Given the description of an element on the screen output the (x, y) to click on. 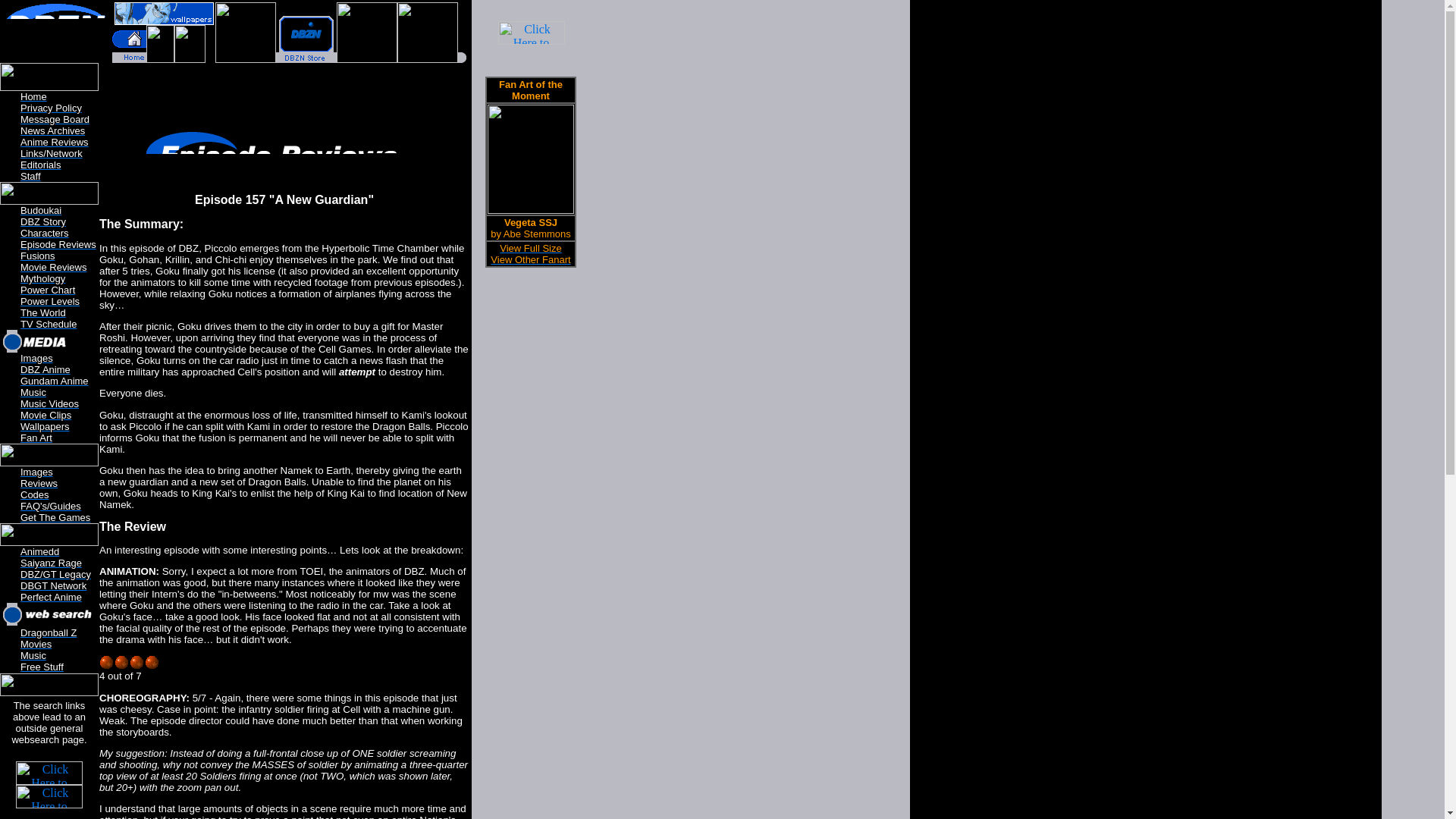
Episode Reviews (58, 244)
Mythology (42, 278)
Images (36, 471)
Privacy Policy (50, 107)
Images (36, 357)
News Archives (52, 130)
Characters (44, 233)
DBZ Story (42, 221)
The World (42, 312)
Budoukai (40, 210)
